Given the description of an element on the screen output the (x, y) to click on. 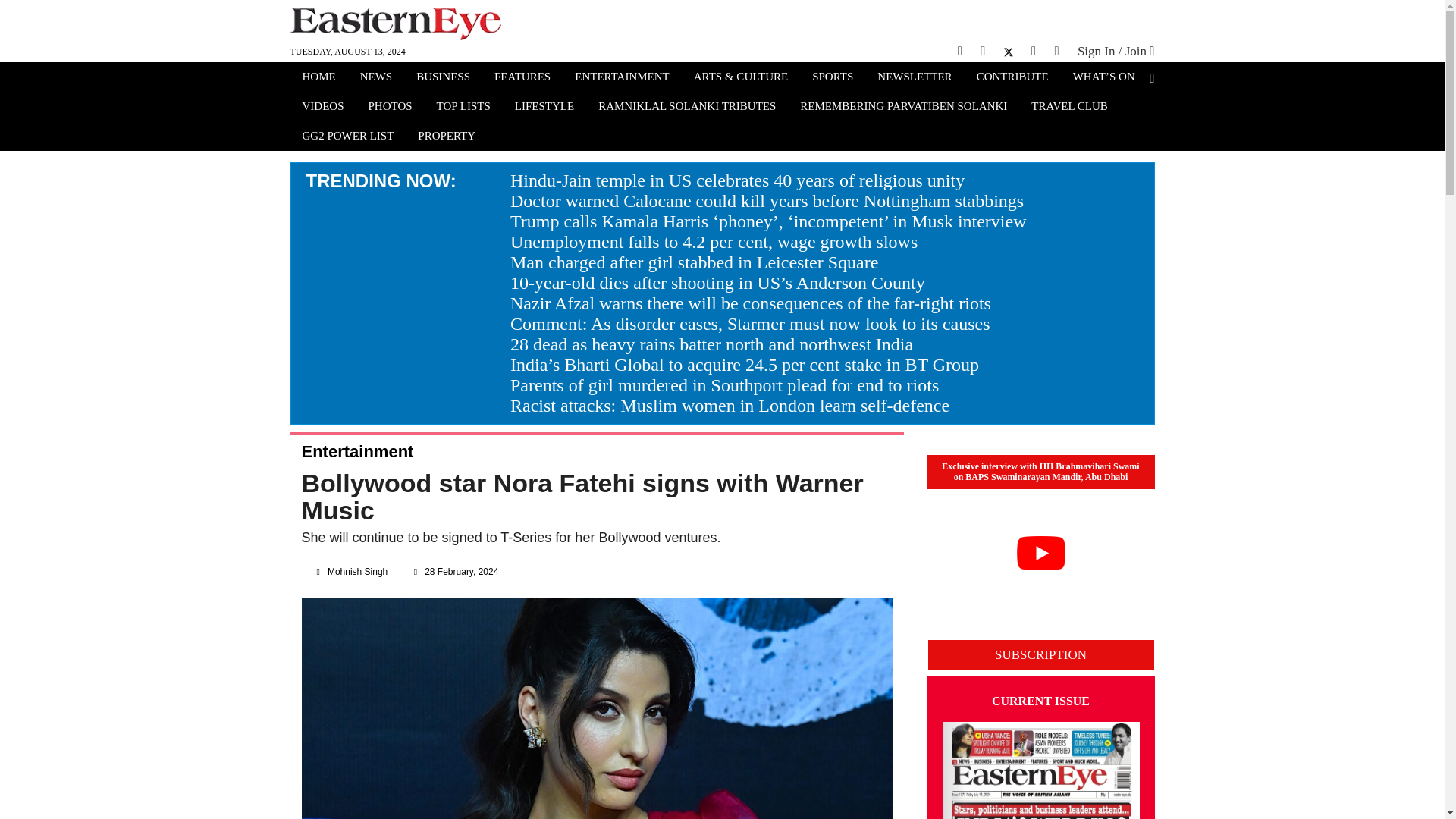
HOME (317, 78)
FEATURES (521, 78)
CONTRIBUTE (1012, 78)
TOP LISTS (463, 108)
TRAVEL CLUB (1069, 108)
REMEMBERING PARVATIBEN SOLANKI (903, 108)
VIDEOS (322, 108)
Unemployment falls to 4.2 per cent, wage growth slows (714, 241)
PHOTOS (390, 108)
